Given the description of an element on the screen output the (x, y) to click on. 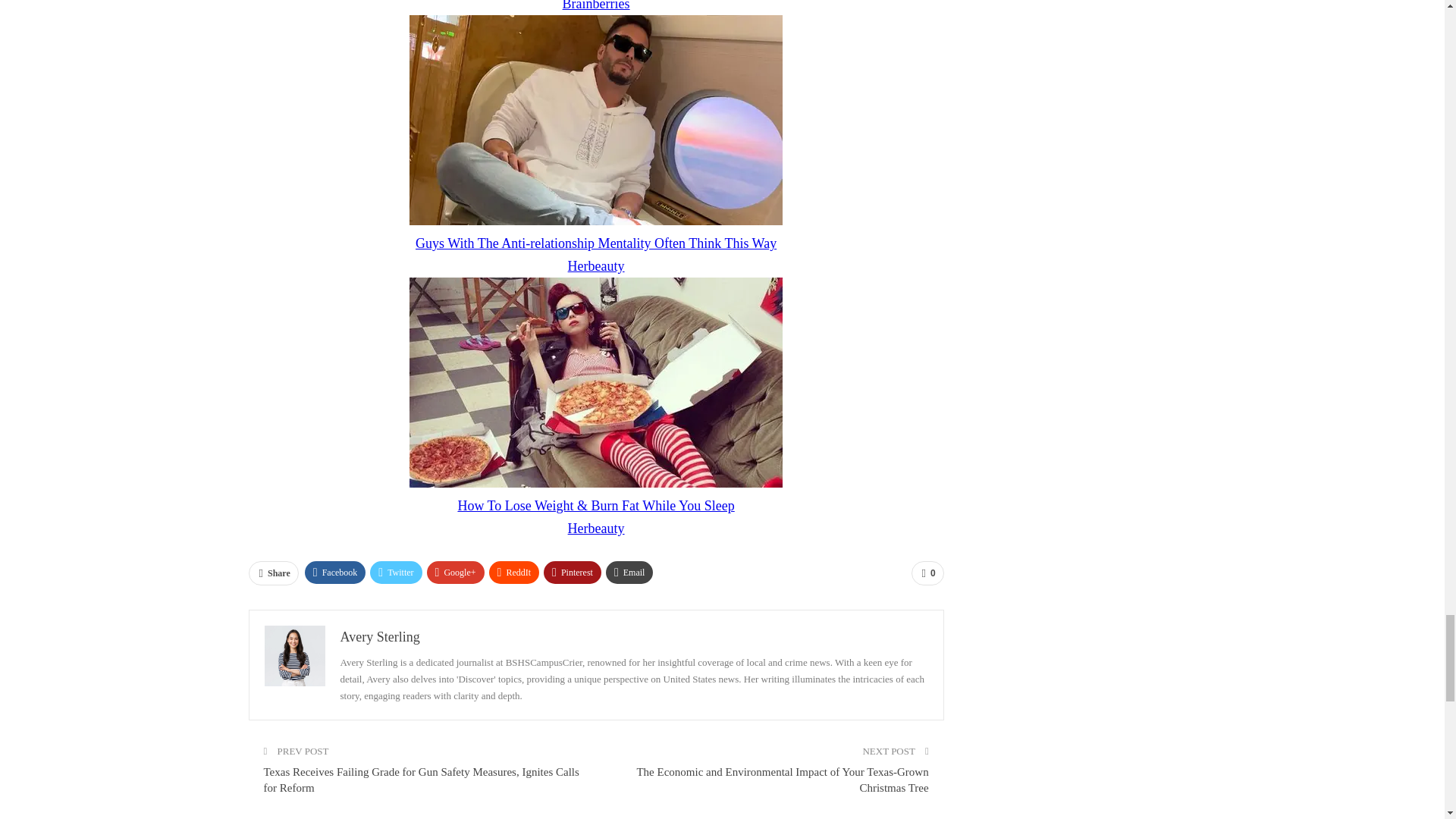
Email (629, 572)
Pinterest (572, 572)
0 (927, 573)
Facebook (335, 572)
ReddIt (514, 572)
Twitter (395, 572)
